Given the description of an element on the screen output the (x, y) to click on. 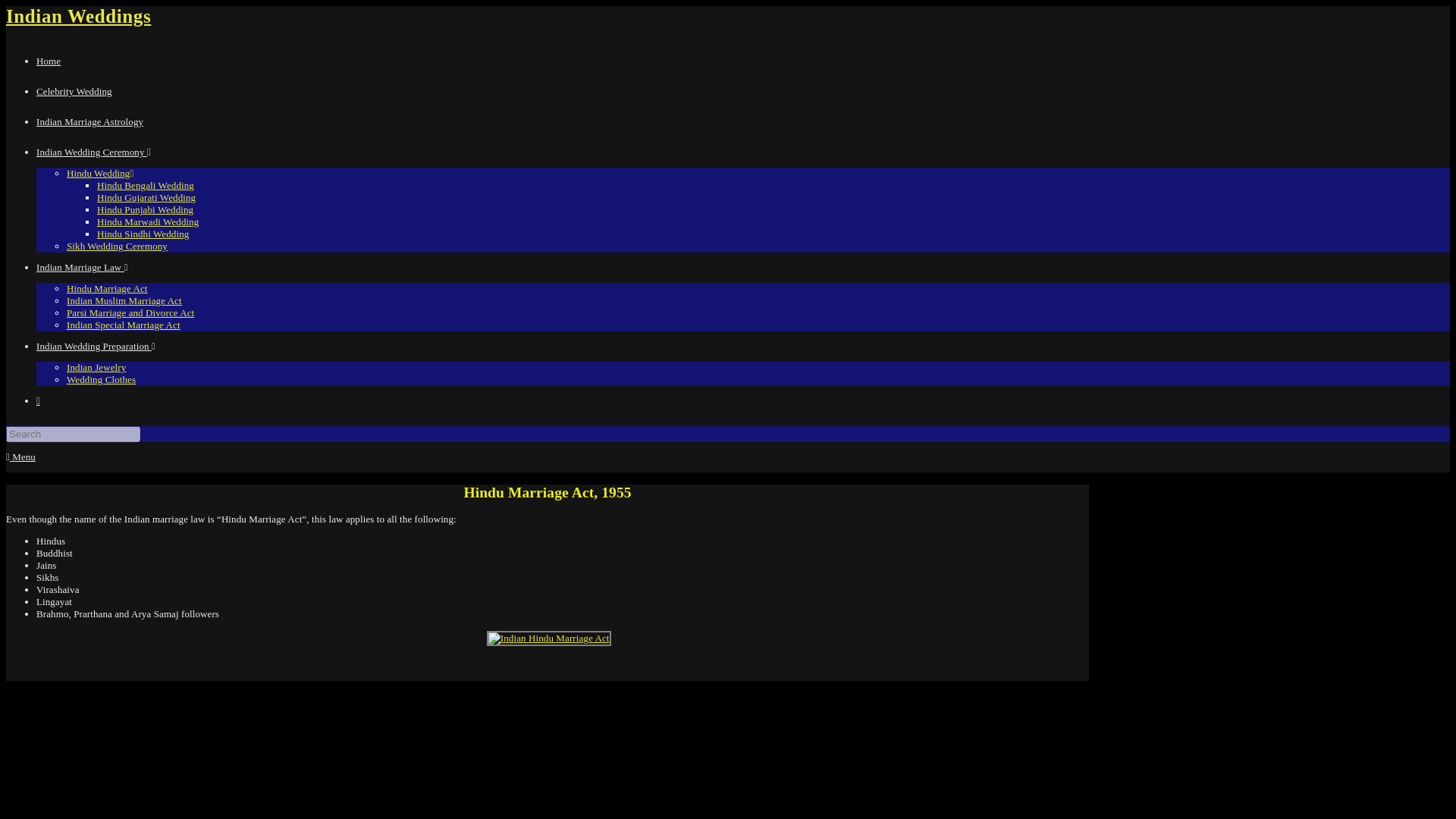
Hindu Punjabi Wedding (145, 209)
Hindu Marriage Act (107, 288)
Indian Wedding Ceremony (93, 152)
Hindu Wedding (99, 173)
Indian Muslim Marriage Act (124, 300)
Hindu Bengali Wedding (145, 184)
Hindu Marwadi Wedding (147, 221)
Sikh Wedding Ceremony (116, 245)
Indian Special Marriage Act (123, 324)
Hindu Sindhi Wedding (143, 233)
